Given the description of an element on the screen output the (x, y) to click on. 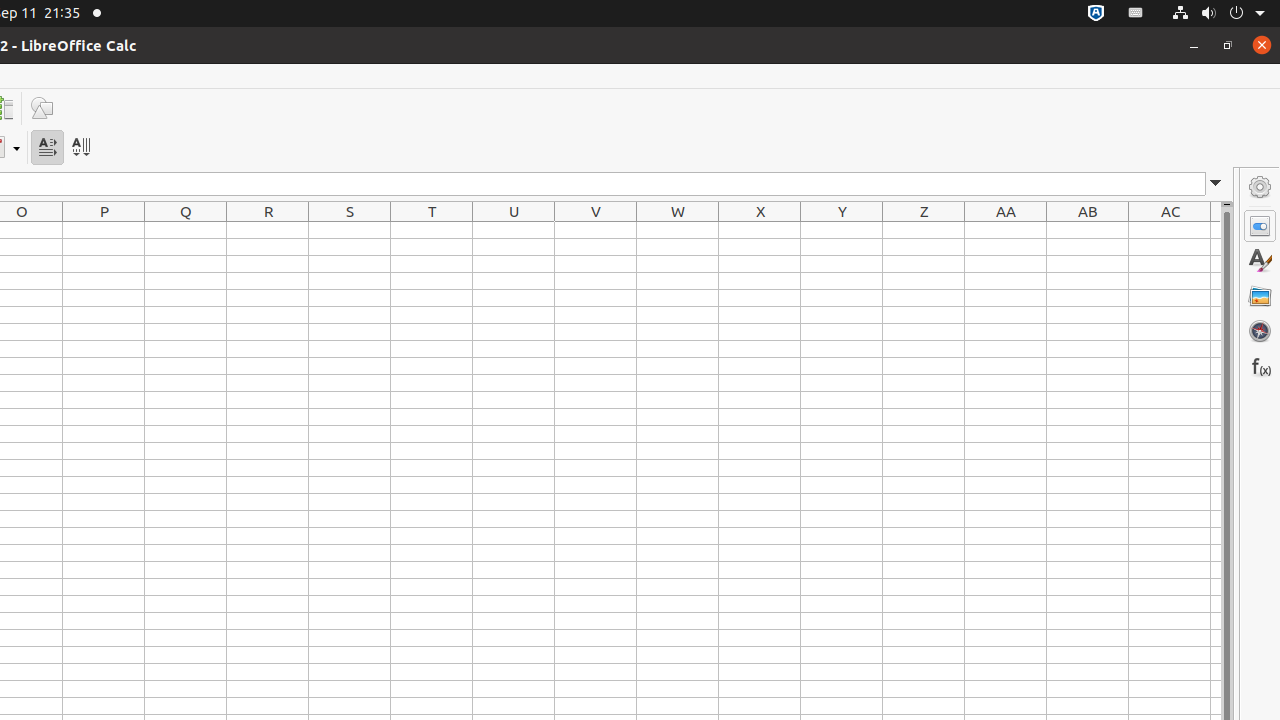
W1 Element type: table-cell (678, 230)
X1 Element type: table-cell (760, 230)
AA1 Element type: table-cell (1006, 230)
Expand Formula Bar Element type: push-button (1216, 183)
